Given the description of an element on the screen output the (x, y) to click on. 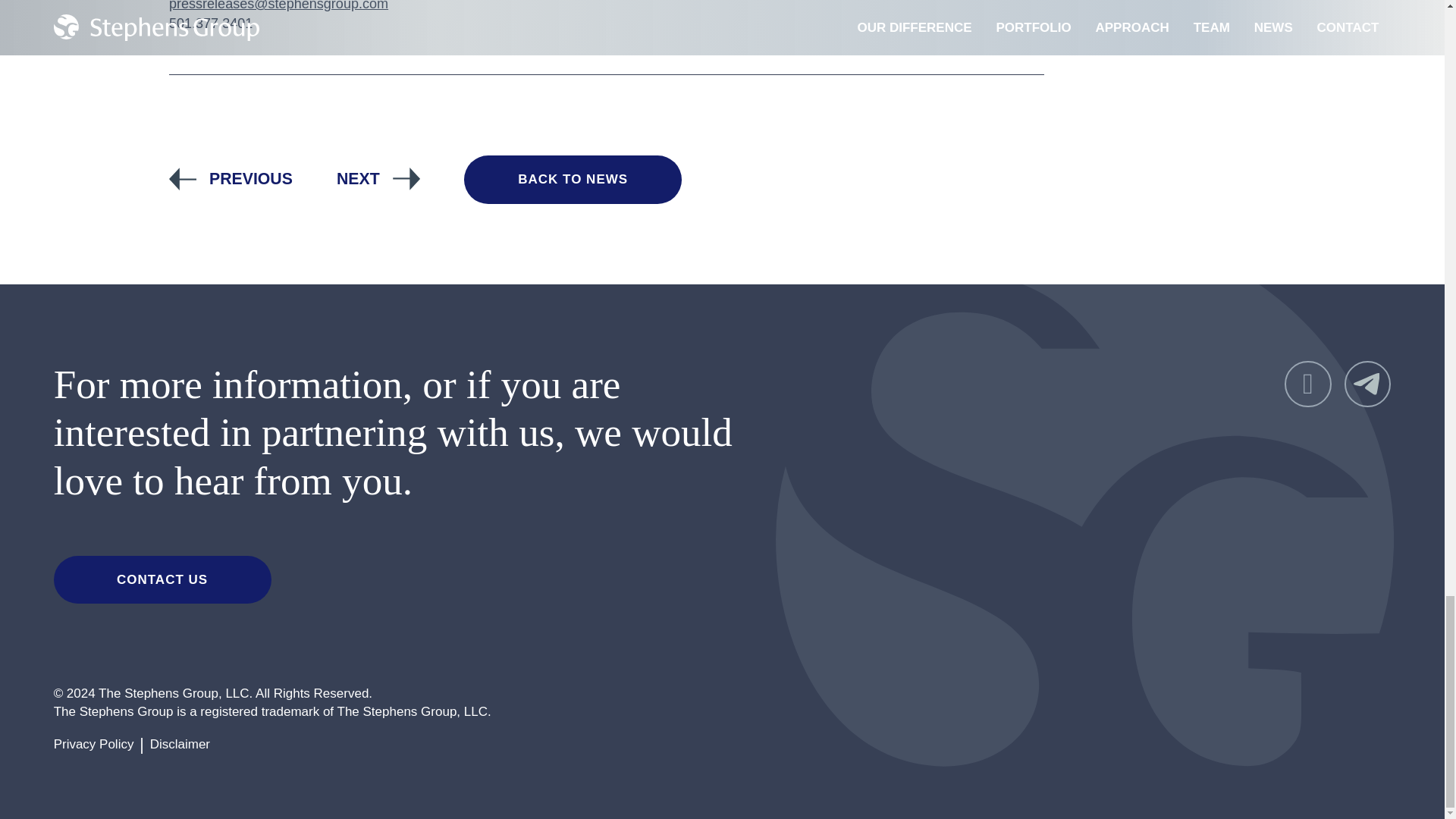
NEXT (378, 179)
BACK TO NEWS (572, 179)
PREVIOUS (230, 179)
